Given the description of an element on the screen output the (x, y) to click on. 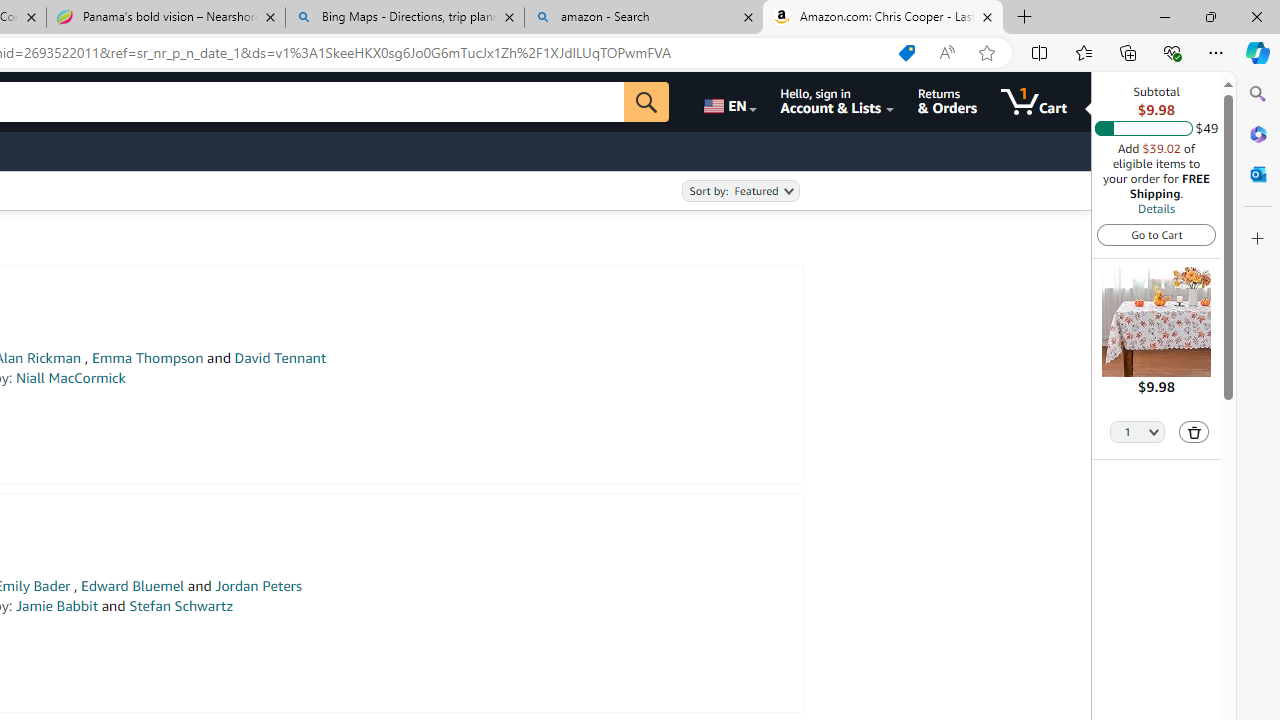
Quantity Selector (1137, 430)
Edward Bluemel (132, 586)
Go (646, 101)
Sort by: (740, 191)
Emma Thompson (146, 358)
amazon - Search (643, 17)
Jamie Babbit (56, 606)
